Given the description of an element on the screen output the (x, y) to click on. 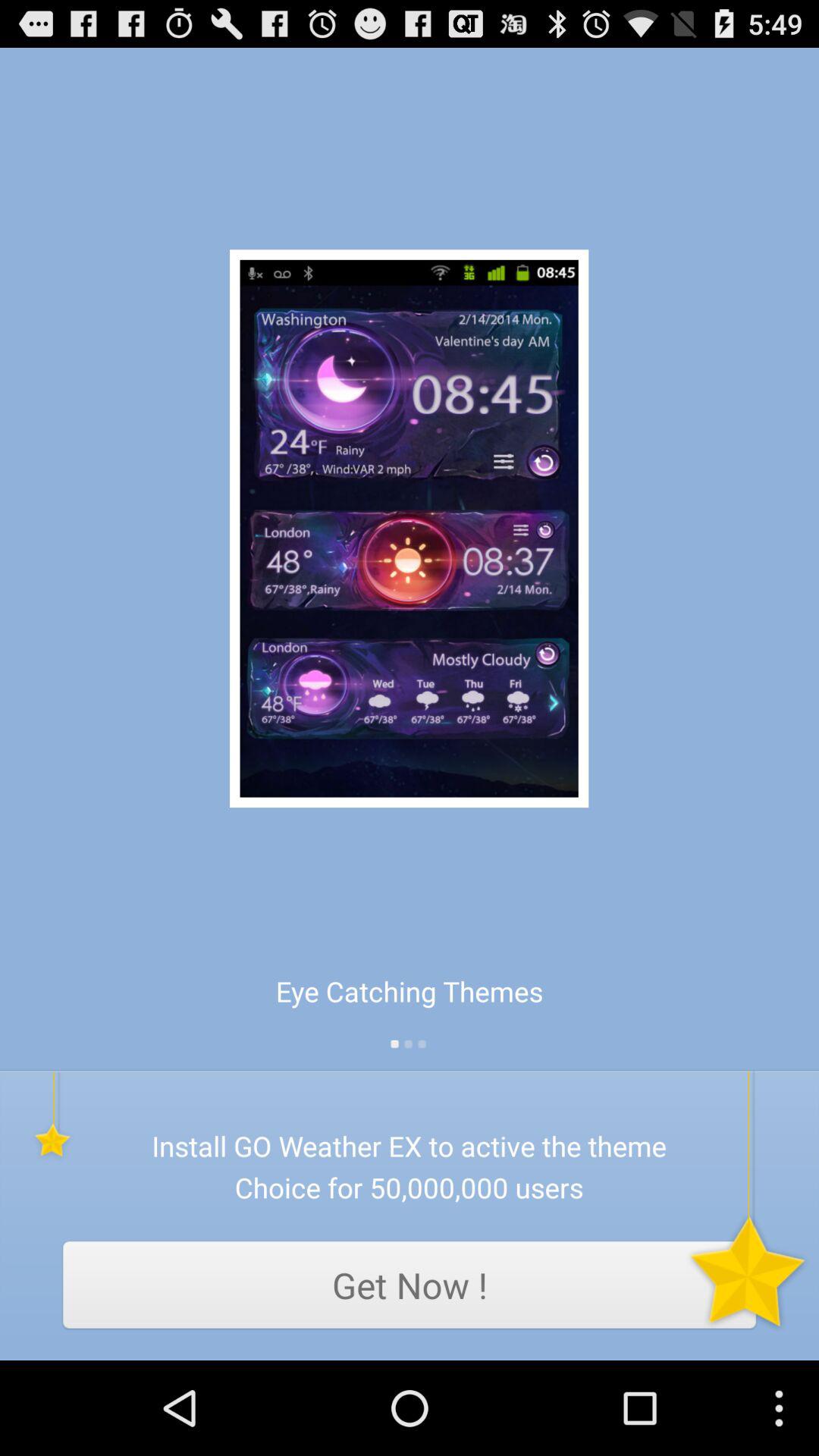
turn on app below choice for 50 item (409, 1285)
